Given the description of an element on the screen output the (x, y) to click on. 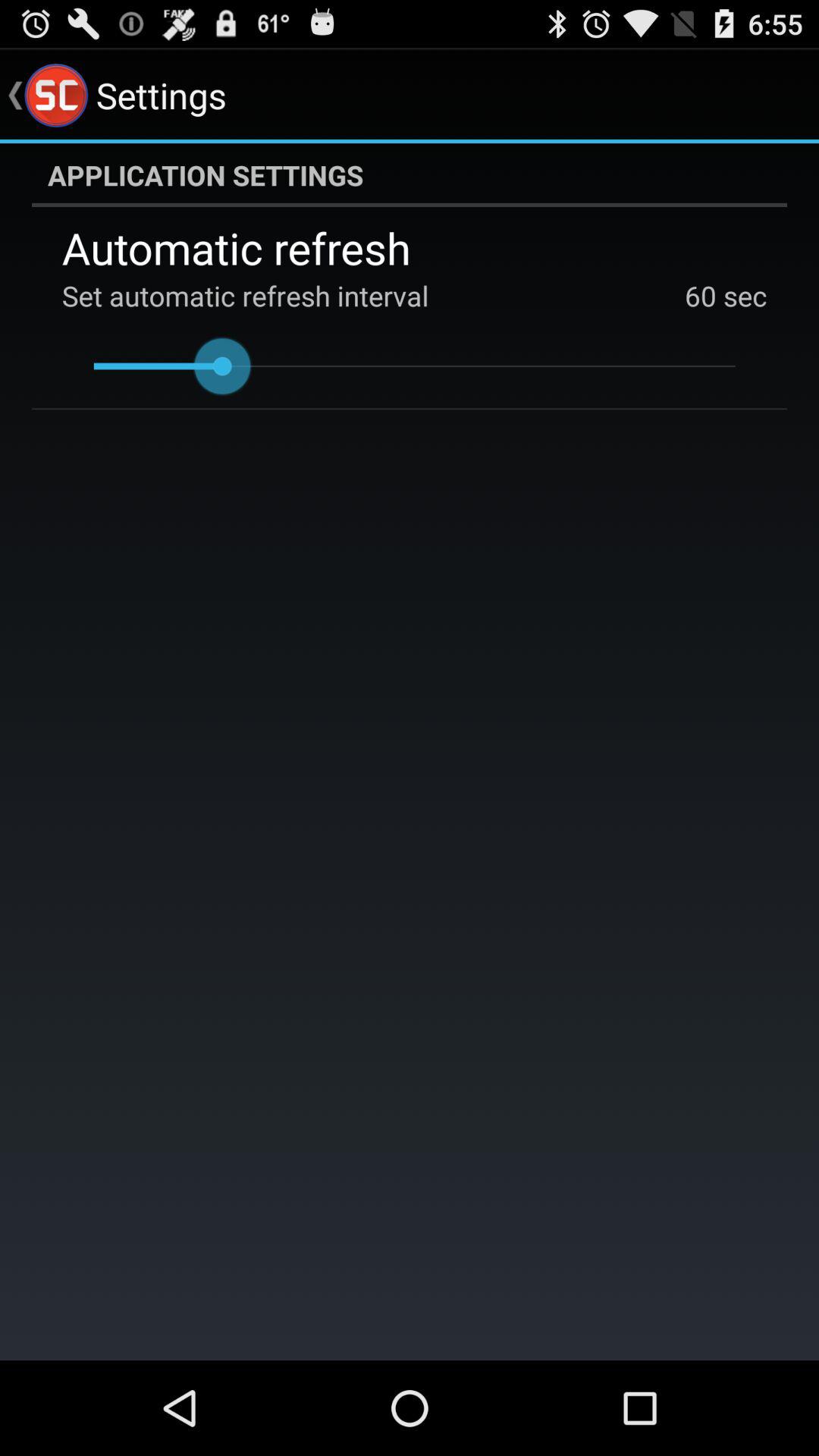
press the  sec (741, 295)
